Given the description of an element on the screen output the (x, y) to click on. 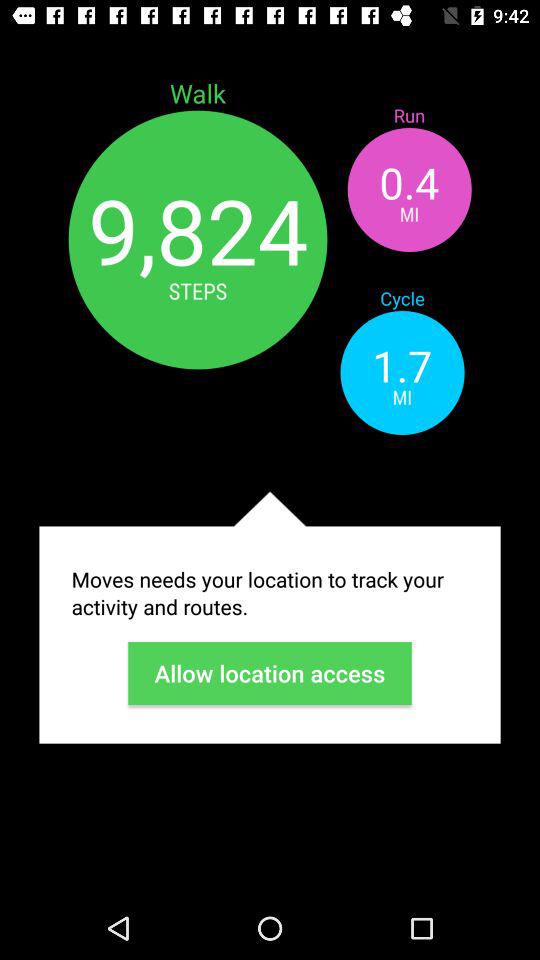
choose the moves needs your item (269, 593)
